Given the description of an element on the screen output the (x, y) to click on. 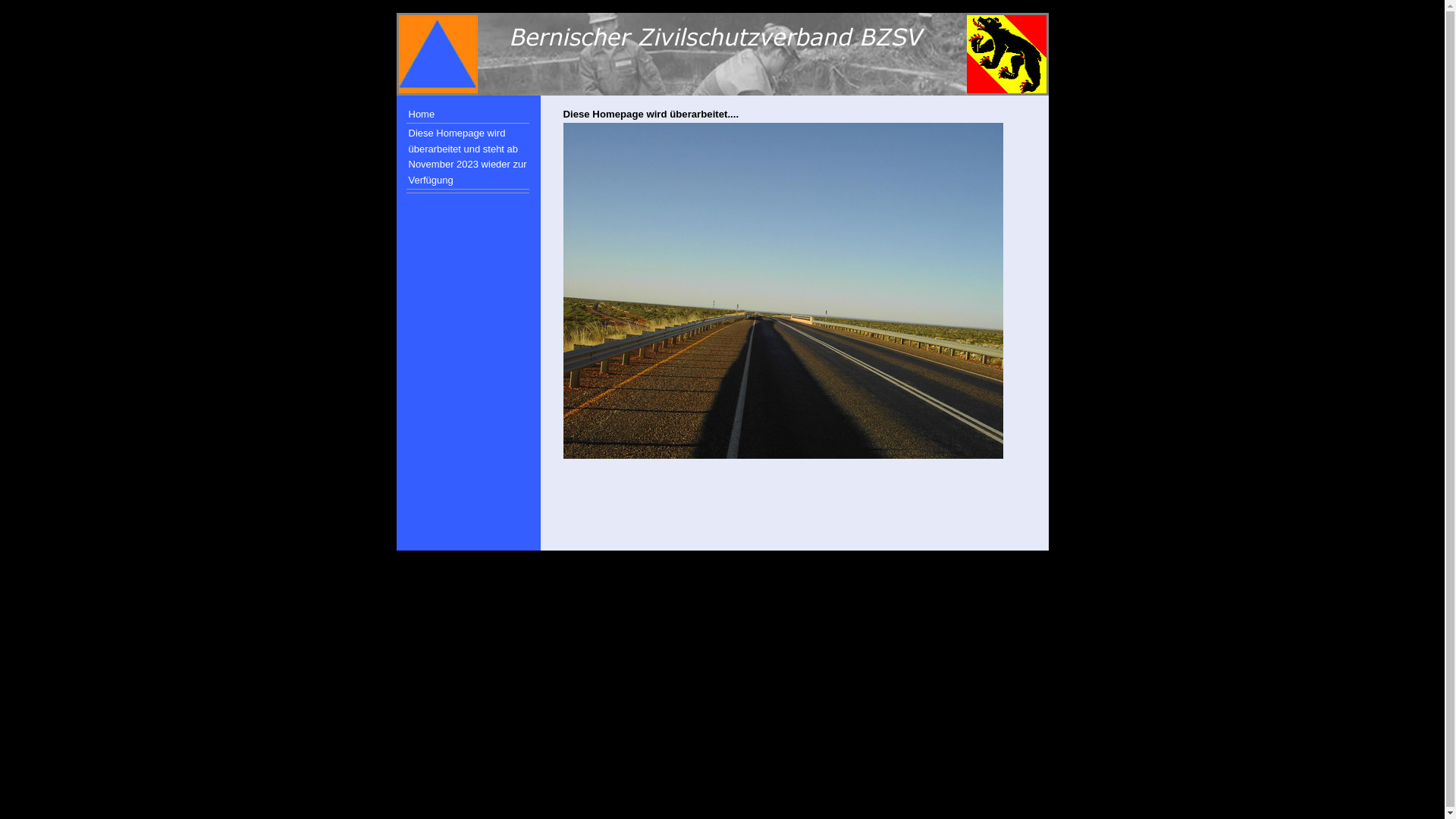
Home Element type: text (467, 113)
